Given the description of an element on the screen output the (x, y) to click on. 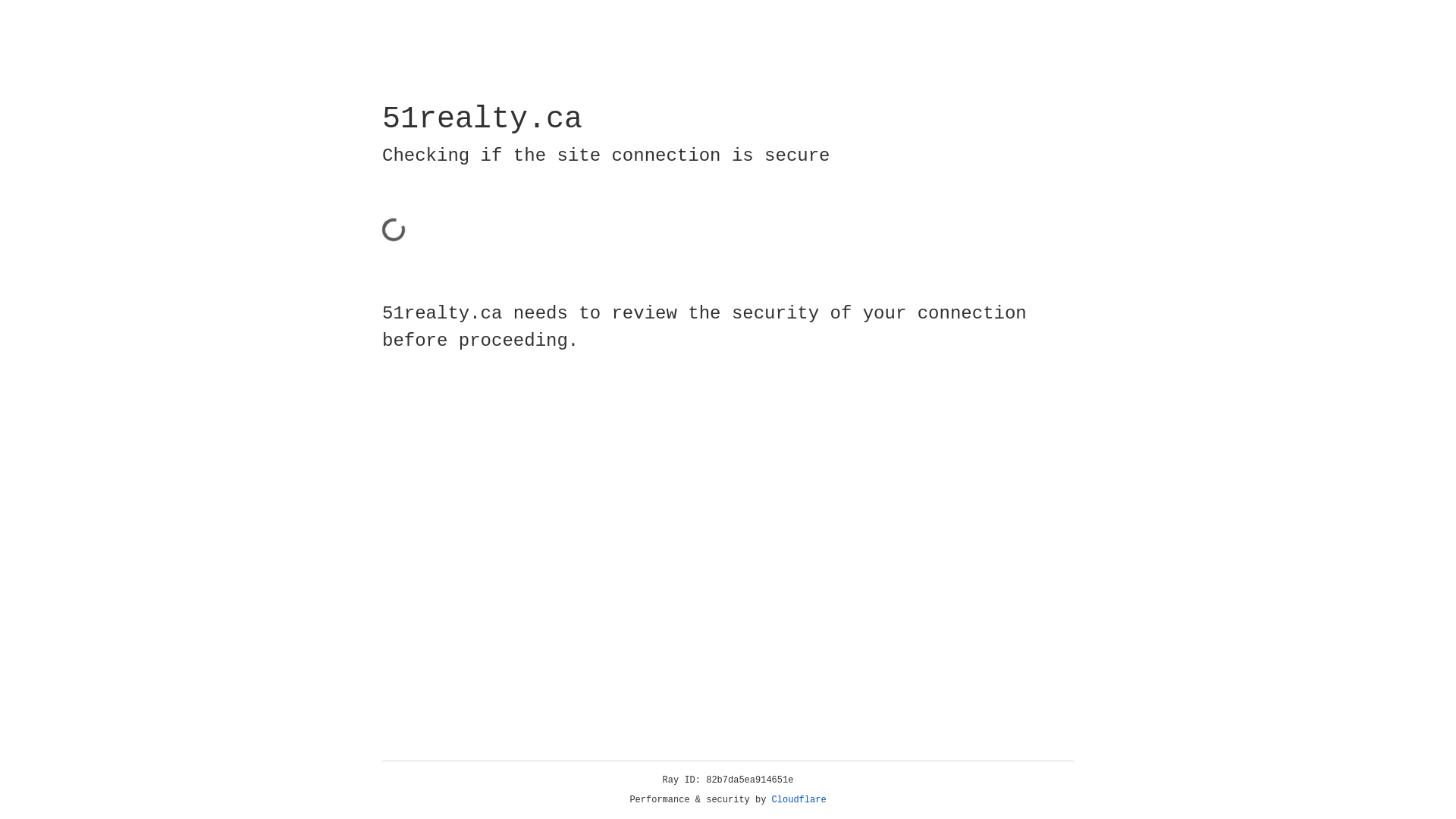
Cloudflare Element type: text (798, 799)
